Given the description of an element on the screen output the (x, y) to click on. 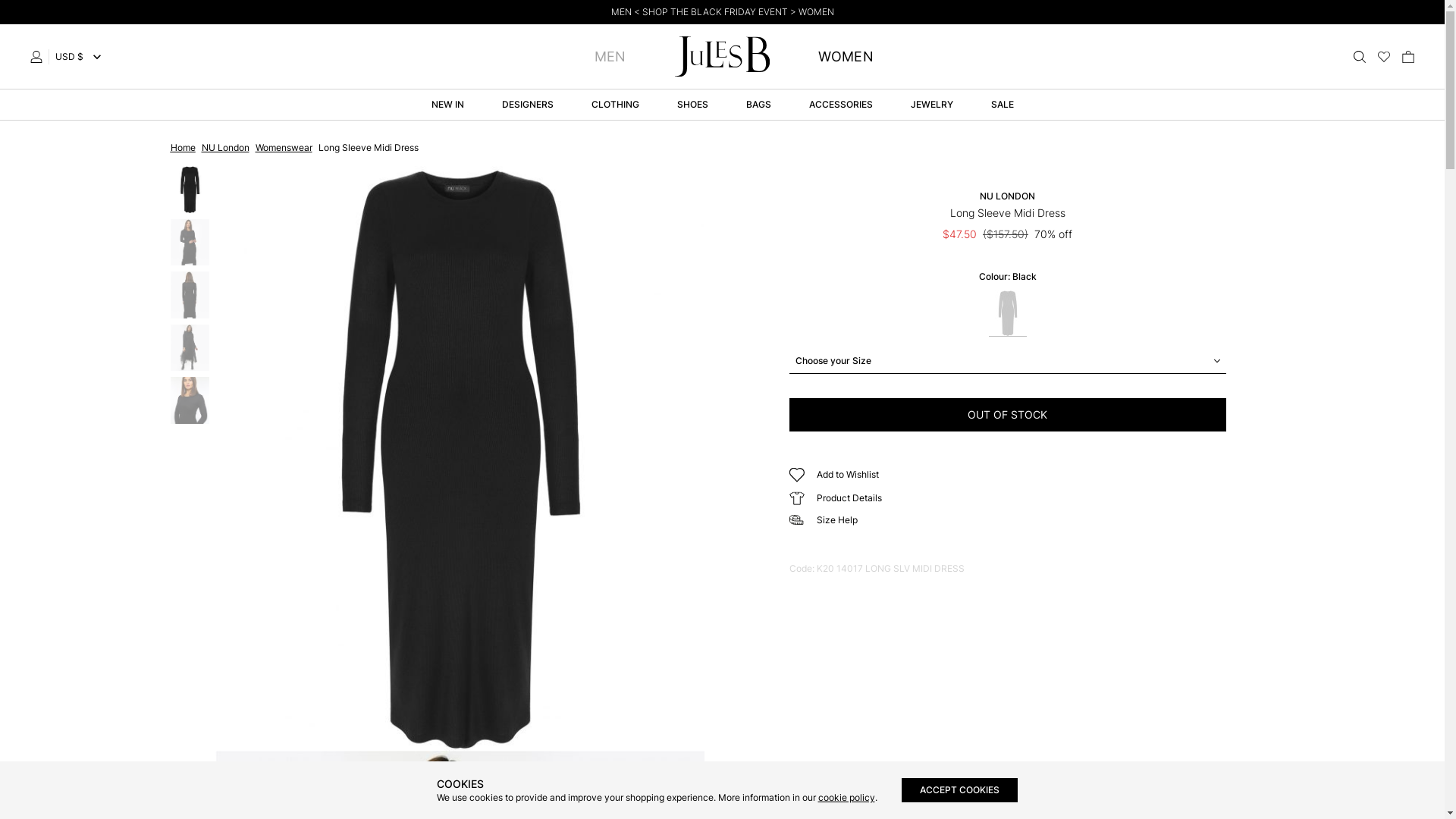
Skip to content Element type: text (0, 0)
CLOTHING Element type: text (615, 104)
BAGS Element type: text (758, 104)
USD $ Element type: text (79, 56)
Add to Wishlist Element type: text (833, 474)
MEN Element type: text (610, 56)
WOMEN Element type: text (845, 56)
NU LONDON Element type: text (1007, 196)
ACCEPT COOKIES Element type: text (958, 790)
cookie policy Element type: text (845, 797)
Womenswear Element type: text (282, 147)
Product Details Element type: text (834, 498)
OUT OF STOCK Element type: text (1006, 414)
JEWELRY Element type: text (931, 104)
MEN Element type: text (621, 11)
Size Help Element type: text (822, 520)
NEW IN Element type: text (446, 104)
SALE Element type: text (1001, 104)
NU London Element type: text (225, 147)
Choose your Size Element type: text (1006, 360)
Black Element type: hover (1007, 313)
SHOES Element type: text (691, 104)
WOMEN Element type: text (815, 11)
DESIGNERS Element type: text (527, 104)
ACCESSORIES Element type: text (840, 104)
Home Element type: text (181, 147)
